Given the description of an element on the screen output the (x, y) to click on. 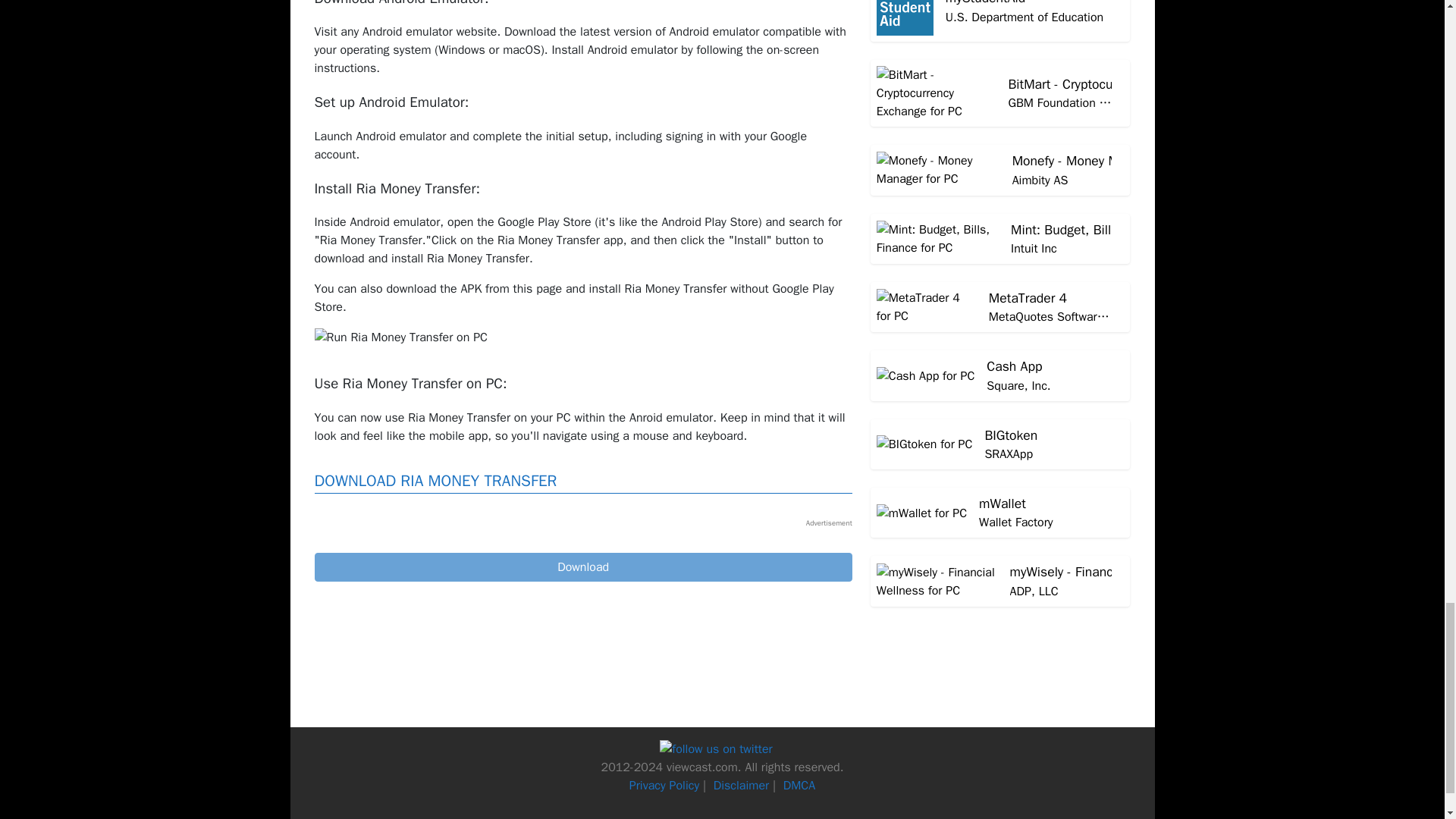
Run Ria Money Transfer on PC (400, 337)
Ria Money Transfer (582, 566)
Download (582, 566)
